Given the description of an element on the screen output the (x, y) to click on. 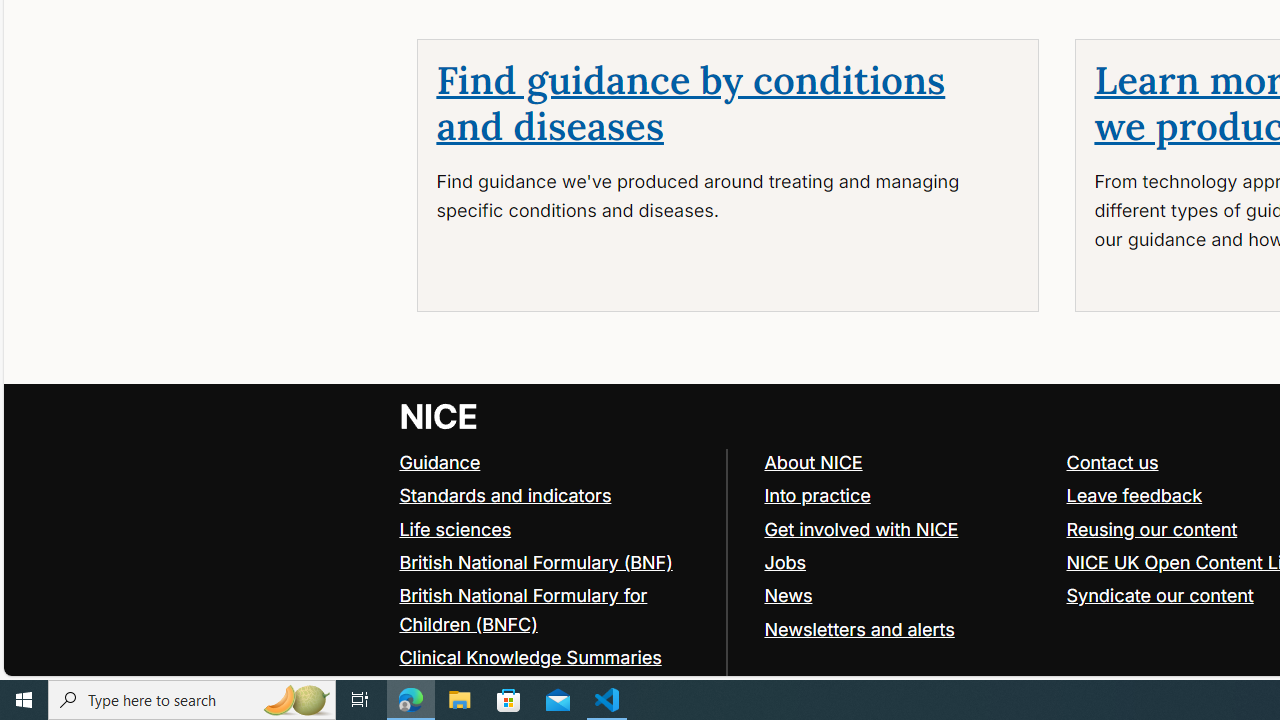
Get involved with NICE (906, 529)
Newsletters and alerts (906, 628)
About NICE (906, 462)
Into practice (906, 495)
Go to NICE home page (439, 416)
Contact us (1112, 461)
Leave feedback (1134, 494)
